Given the description of an element on the screen output the (x, y) to click on. 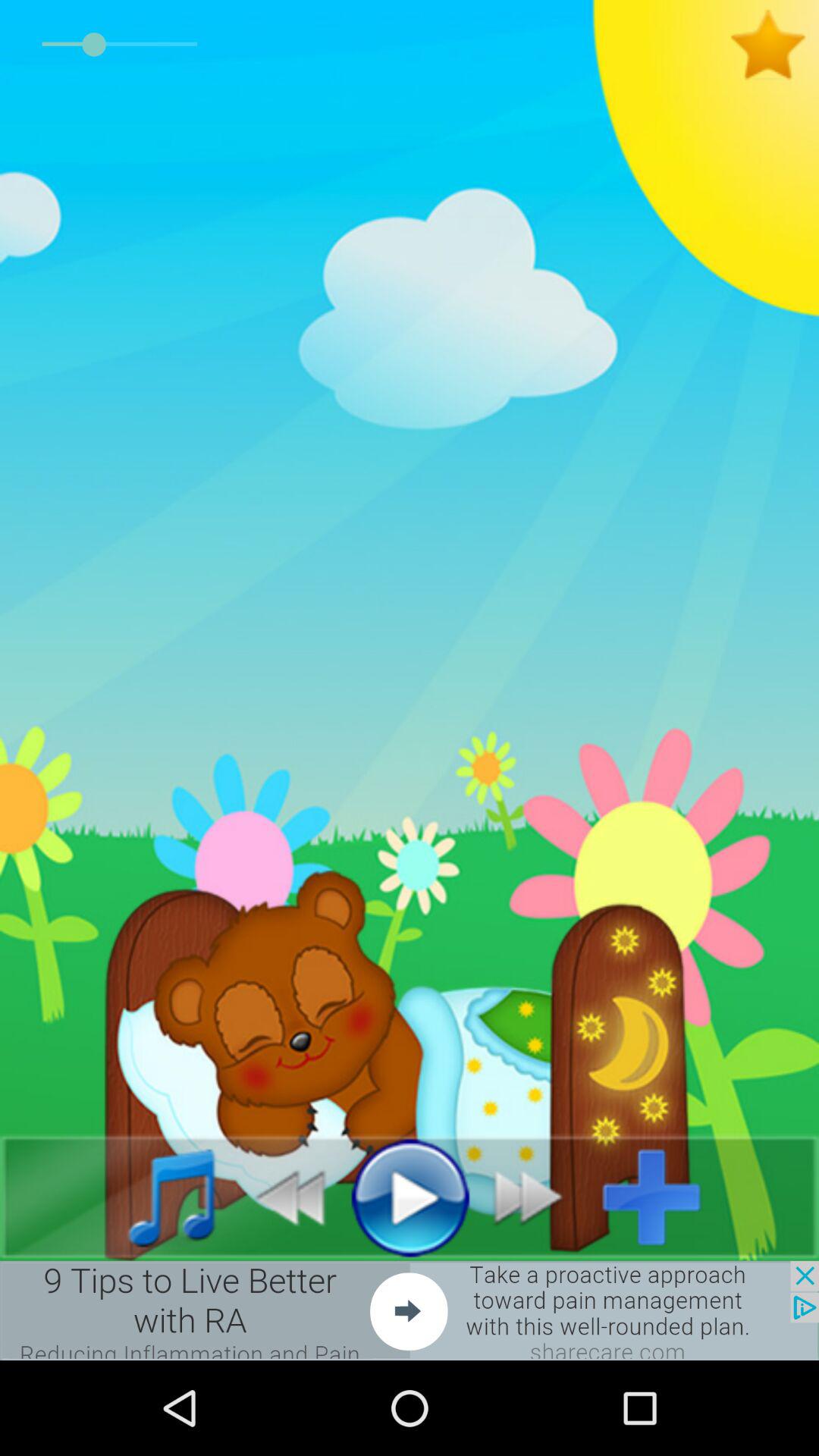
it specify music symbol (154, 1196)
